Given the description of an element on the screen output the (x, y) to click on. 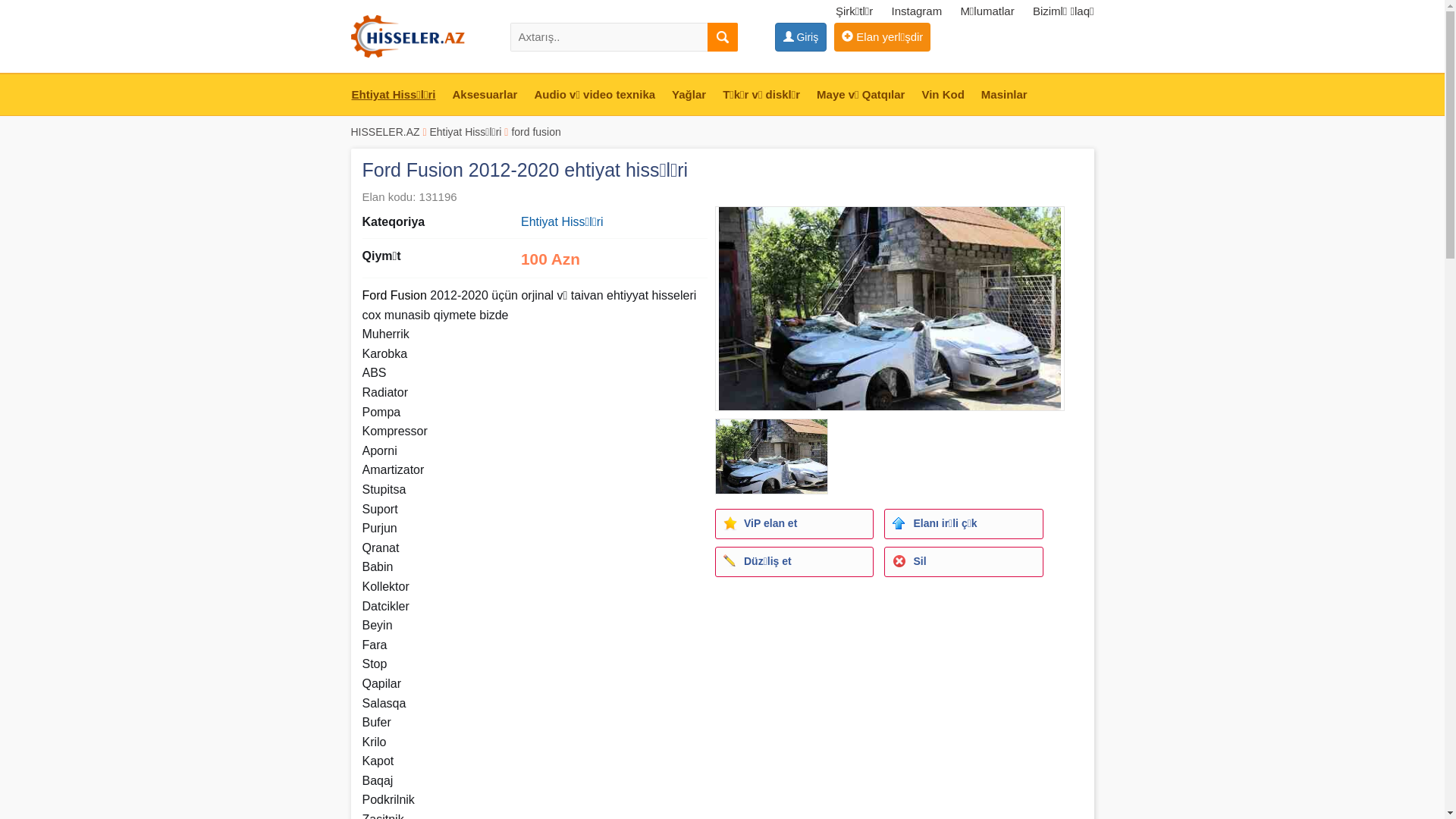
Instagram Element type: text (916, 10)
Masinlar Element type: text (1003, 94)
Sil Element type: text (962, 561)
ViP elan et Element type: text (793, 523)
Vin Kod Element type: text (942, 94)
Ford Fusion Element type: text (394, 294)
Aksesuarlar Element type: text (485, 94)
  Element type: text (721, 36)
ford fusion Element type: text (535, 131)
HISSELER.AZ Element type: text (384, 131)
